Given the description of an element on the screen output the (x, y) to click on. 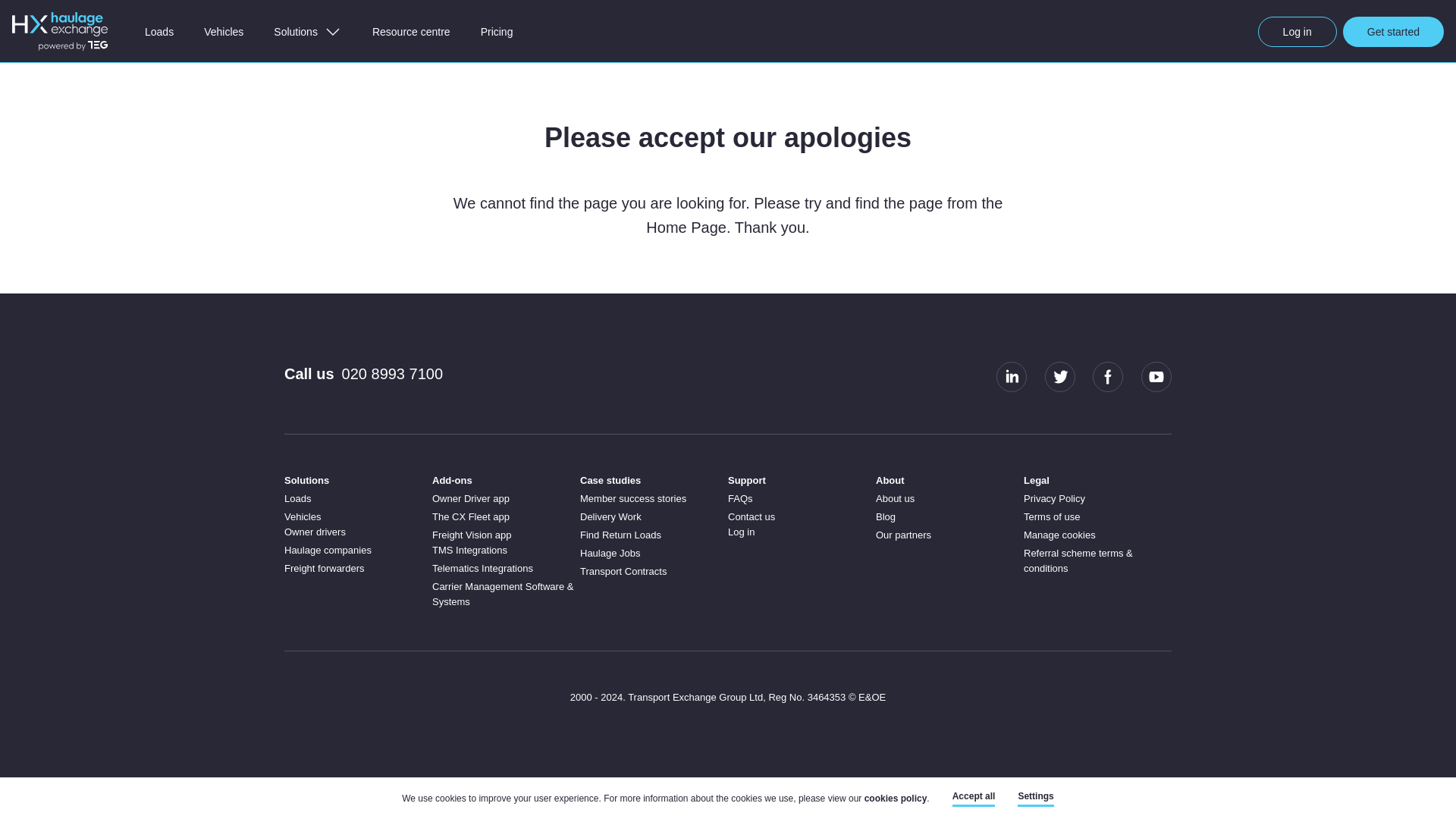
Facebook (1107, 376)
Owner drivers (314, 531)
Freight Vision app (472, 534)
Log in (1296, 31)
Vehicles (224, 31)
Call us020 8993 7100 (362, 377)
LinkedIn (1010, 376)
Get started (1393, 31)
Vehicles (301, 516)
Transport Contracts (622, 571)
Owner Driver app (470, 498)
Solutions (307, 31)
Resource centre (411, 31)
log in (1296, 31)
Member success stories (632, 498)
